Given the description of an element on the screen output the (x, y) to click on. 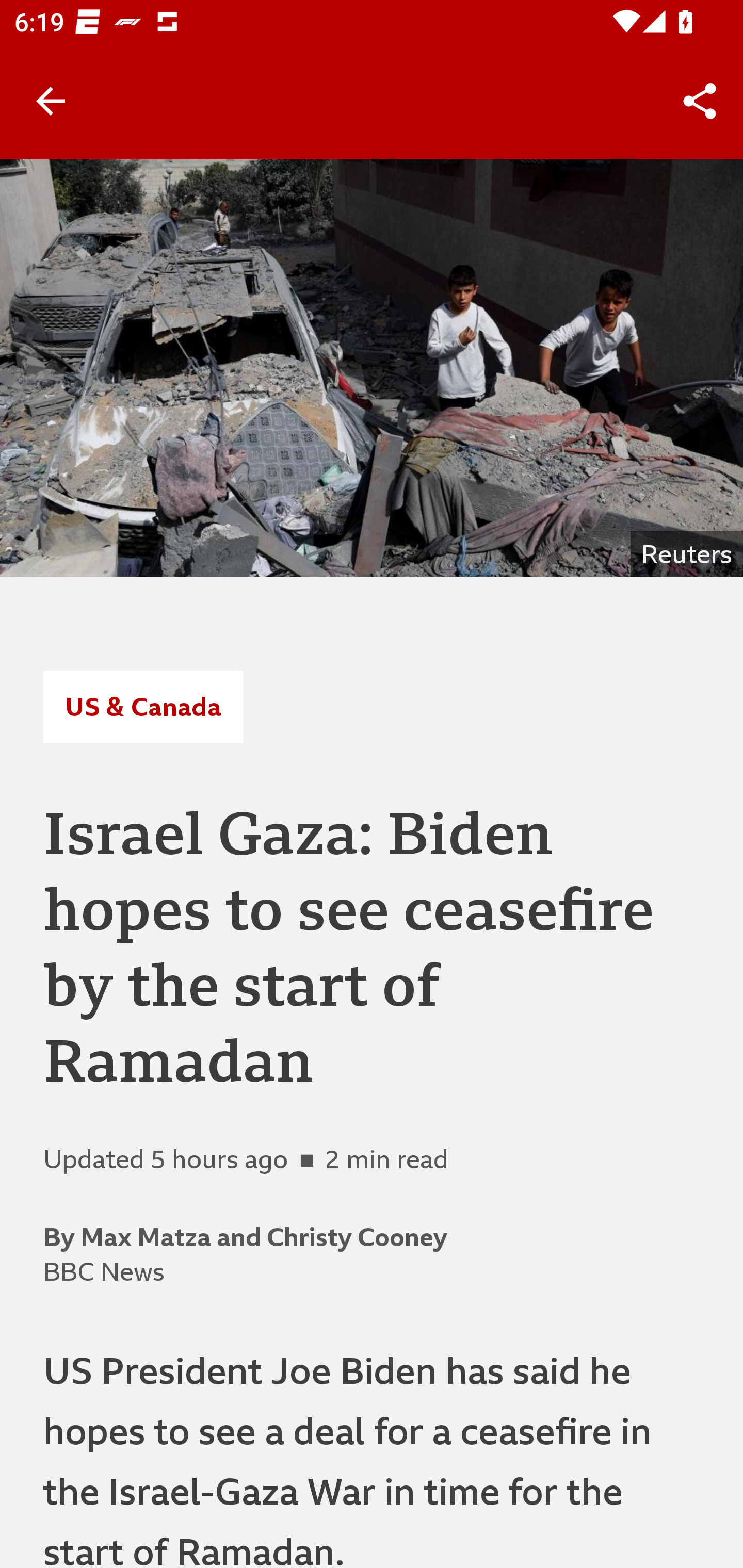
Back (50, 101)
Share (699, 101)
US & Canada (142, 706)
